Given the description of an element on the screen output the (x, y) to click on. 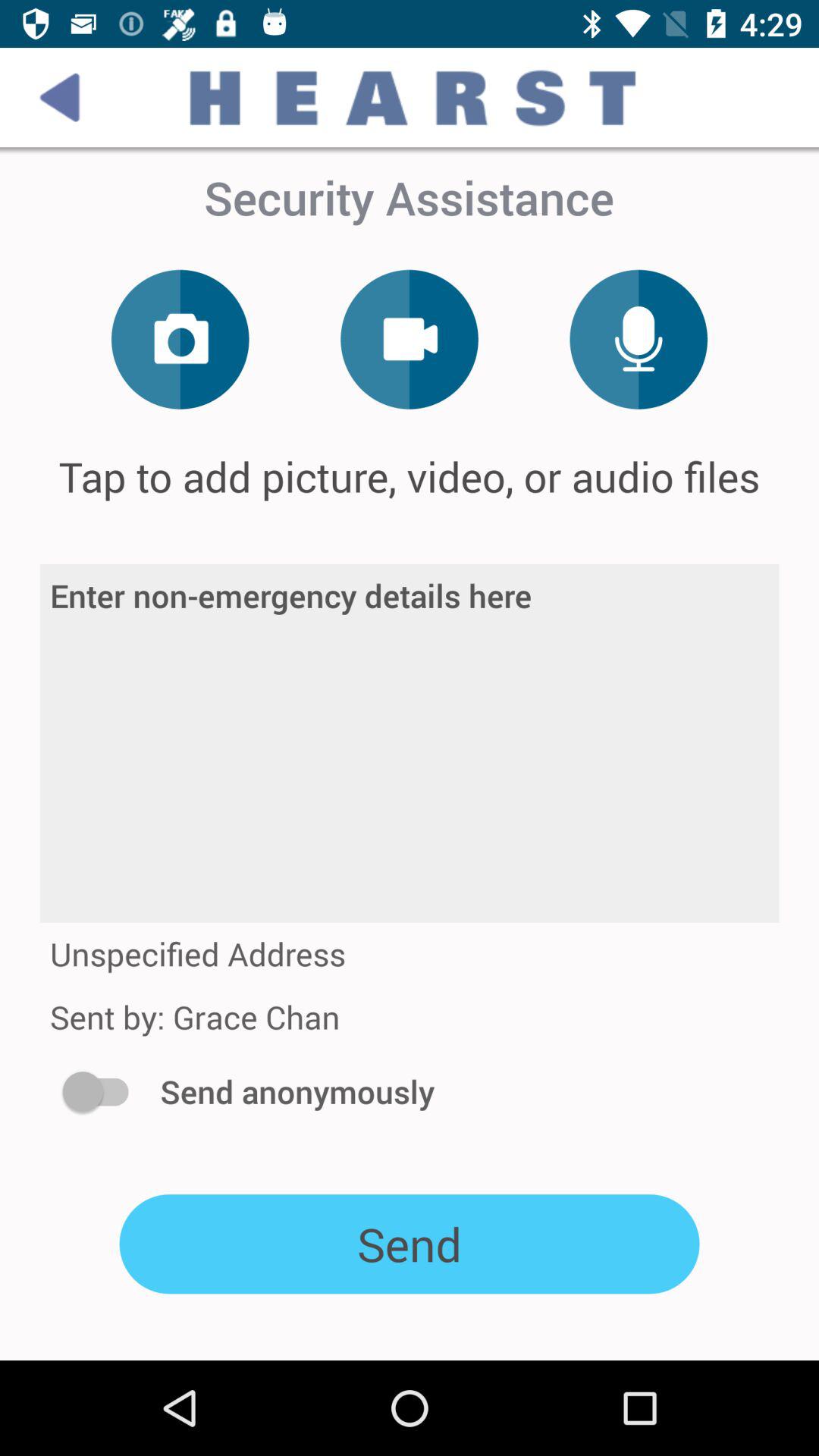
choose the item next to the send anonymously icon (102, 1091)
